Given the description of an element on the screen output the (x, y) to click on. 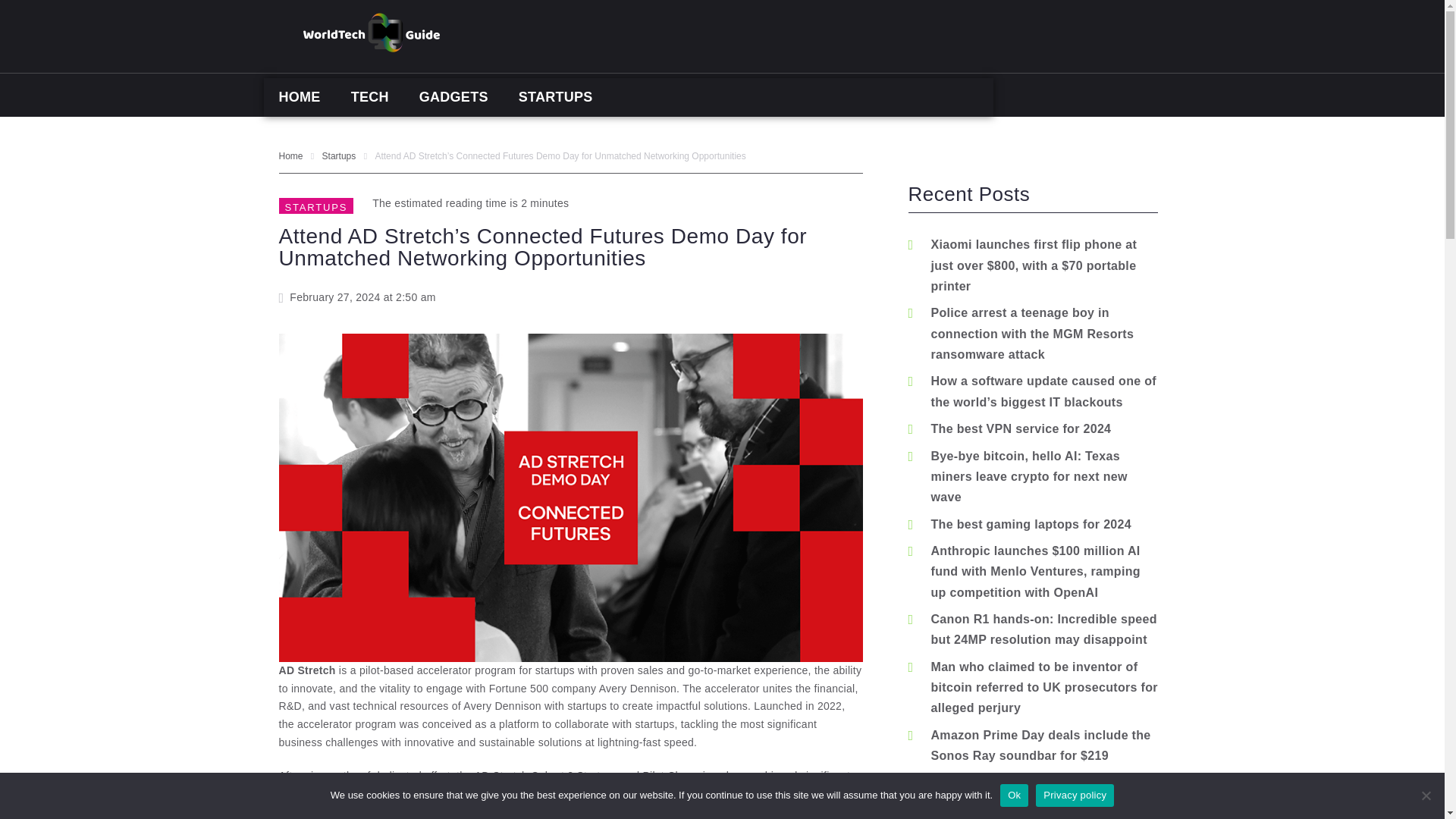
Home (290, 155)
Startups (338, 155)
STARTUPS (316, 205)
HOME (299, 97)
Home (290, 155)
STARTUPS (555, 97)
The best VPN service for 2024 (1021, 428)
February 27, 2024 at 2:50 am (357, 297)
No (1425, 795)
GADGETS (453, 97)
Startups (338, 155)
TECH (370, 97)
